Given the description of an element on the screen output the (x, y) to click on. 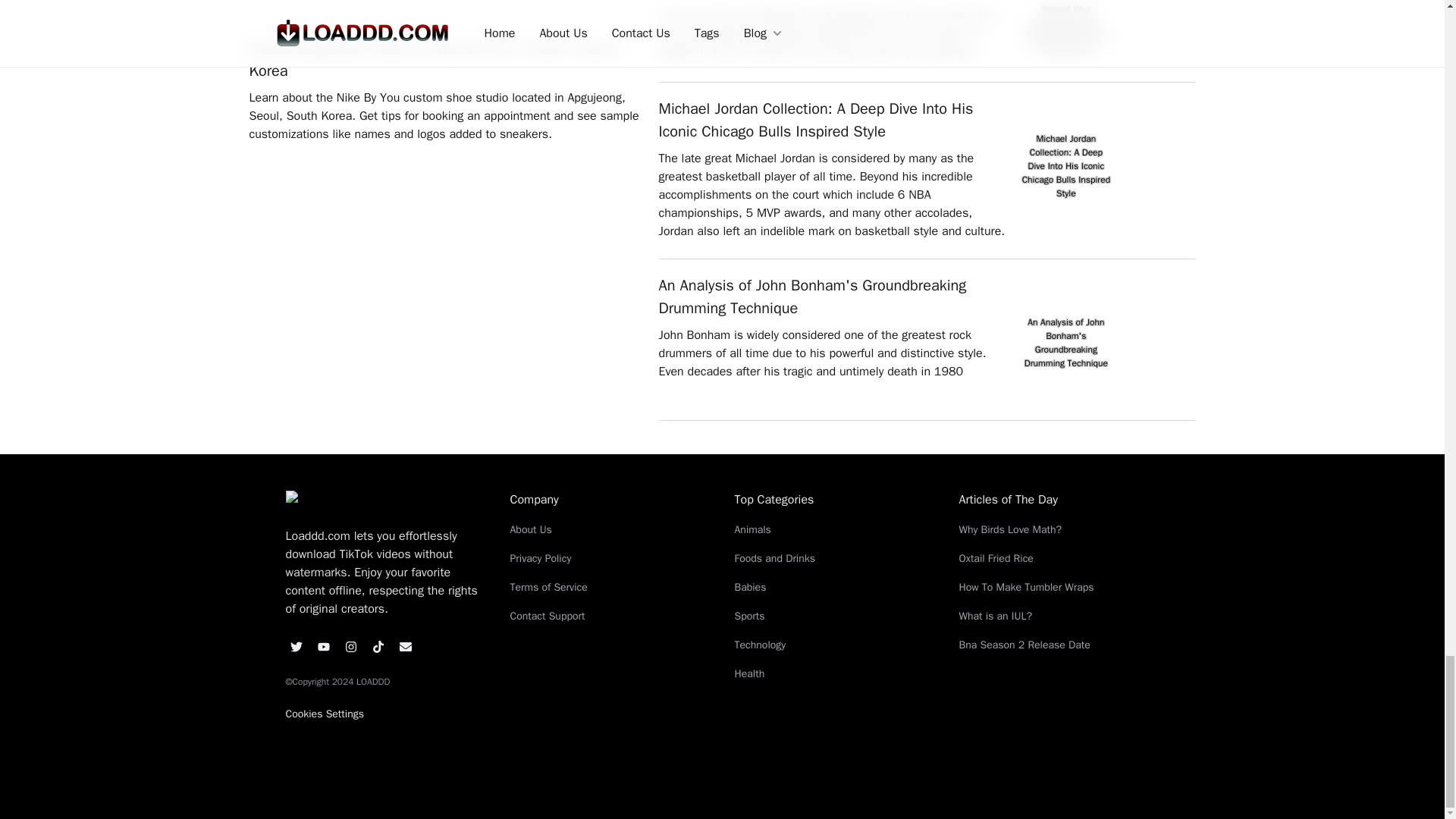
Top Categories (833, 499)
Privacy Policy (609, 558)
Foods and Drinks (833, 558)
Animals (833, 529)
YouTube (323, 646)
Email (404, 646)
Contact Support (609, 616)
Terms of Service (609, 587)
TikTok (377, 646)
Company (609, 499)
Twitter (295, 646)
Customizing Nike Shoes at Nike By You in Seoul, South Korea (445, 59)
Instagram (350, 646)
